Given the description of an element on the screen output the (x, y) to click on. 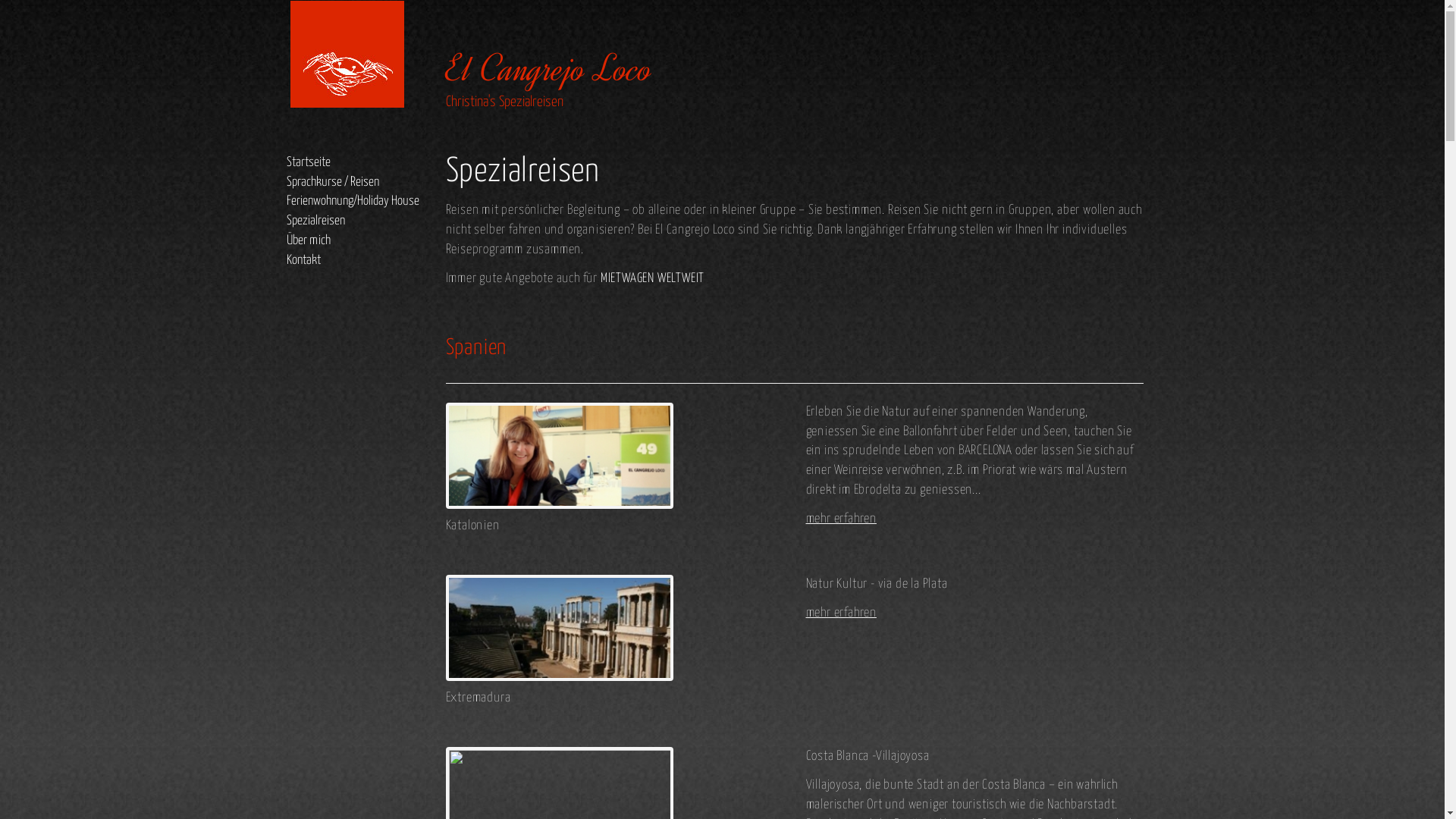
Ferienwohnung/Holiday House Element type: text (352, 200)
Spezialreisen Element type: text (315, 220)
Kontakt Element type: text (303, 260)
mehr erfahren Element type: text (840, 612)
Sprachkurse / Reisen Element type: text (332, 181)
mehr erfahren Element type: text (840, 518)
Startseite Element type: text (308, 162)
